Given the description of an element on the screen output the (x, y) to click on. 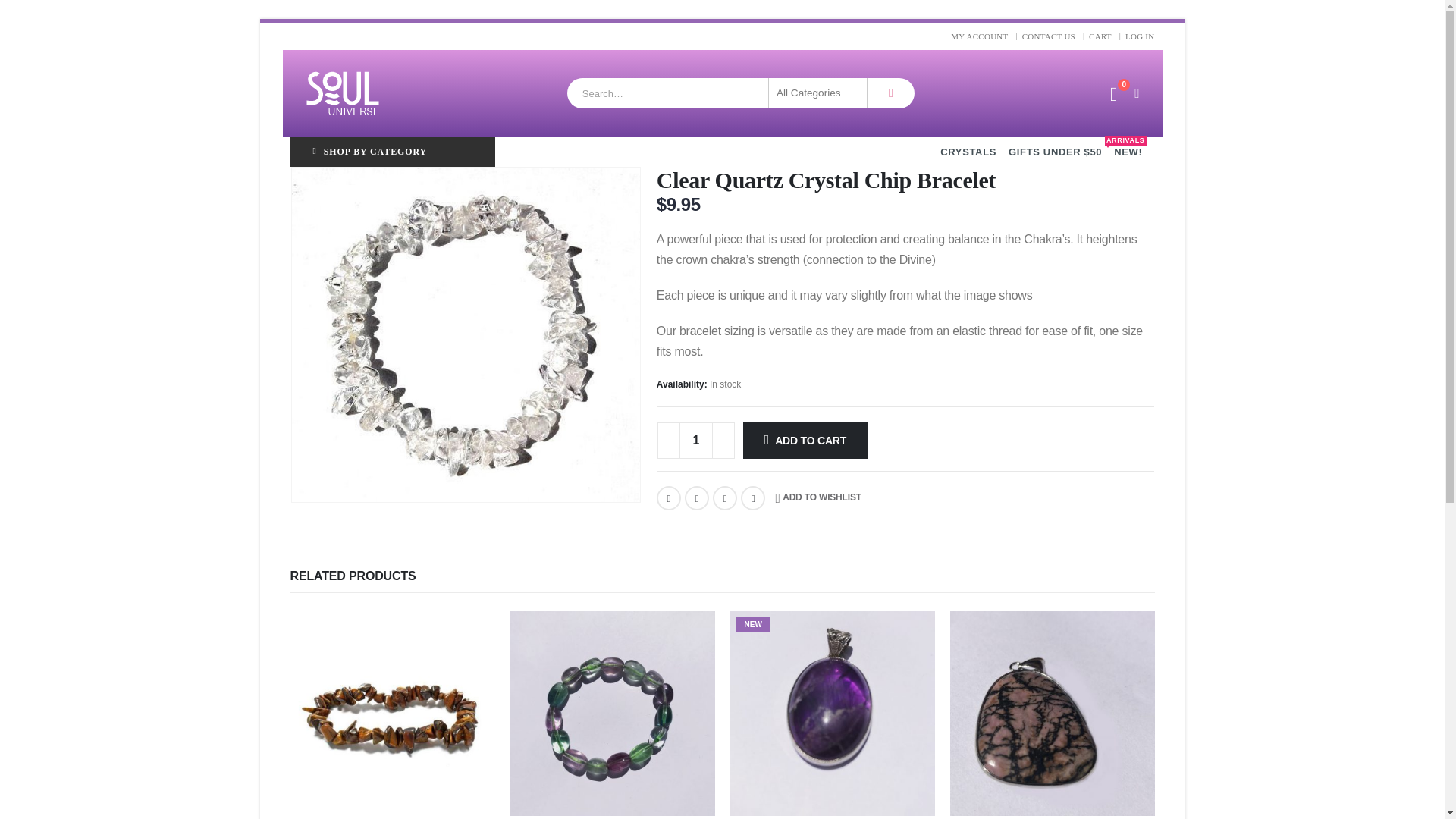
Clear Quartz Chip Bracelet (465, 334)
LinkedIn (724, 498)
Twitter (696, 498)
LOG IN (1139, 35)
Facebook (668, 498)
CONTACT US (1050, 35)
1 (696, 440)
Email (753, 498)
